Given the description of an element on the screen output the (x, y) to click on. 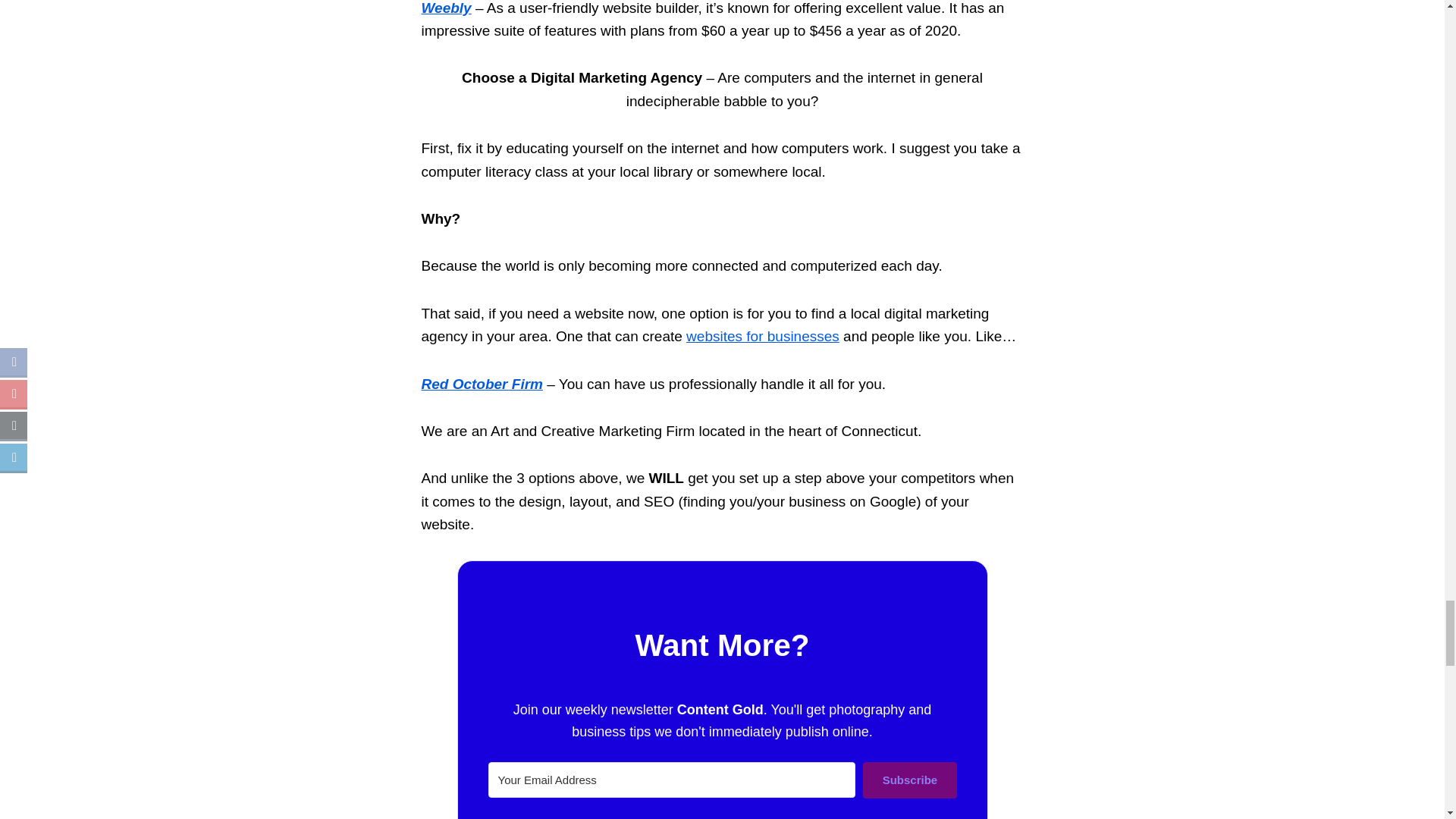
websites for businesses (762, 335)
Subscribe (909, 780)
Weebly (446, 7)
Red October Firm (482, 383)
